Given the description of an element on the screen output the (x, y) to click on. 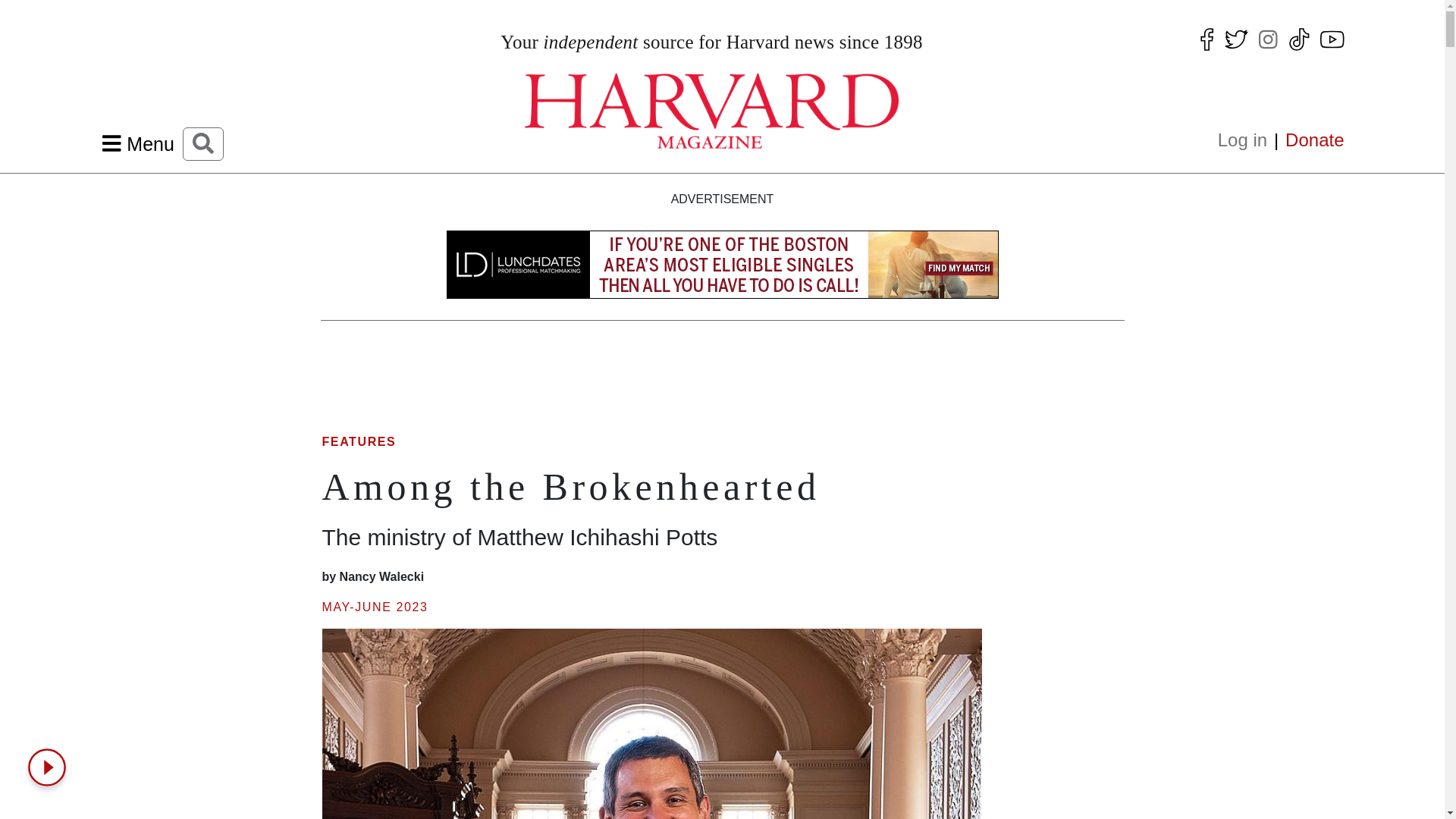
Eligible Boston singles - call us! (722, 275)
Home (711, 111)
Log in (1246, 139)
Trinity Audio Player (50, 768)
Menu (138, 143)
Donate (1309, 139)
